Given the description of an element on the screen output the (x, y) to click on. 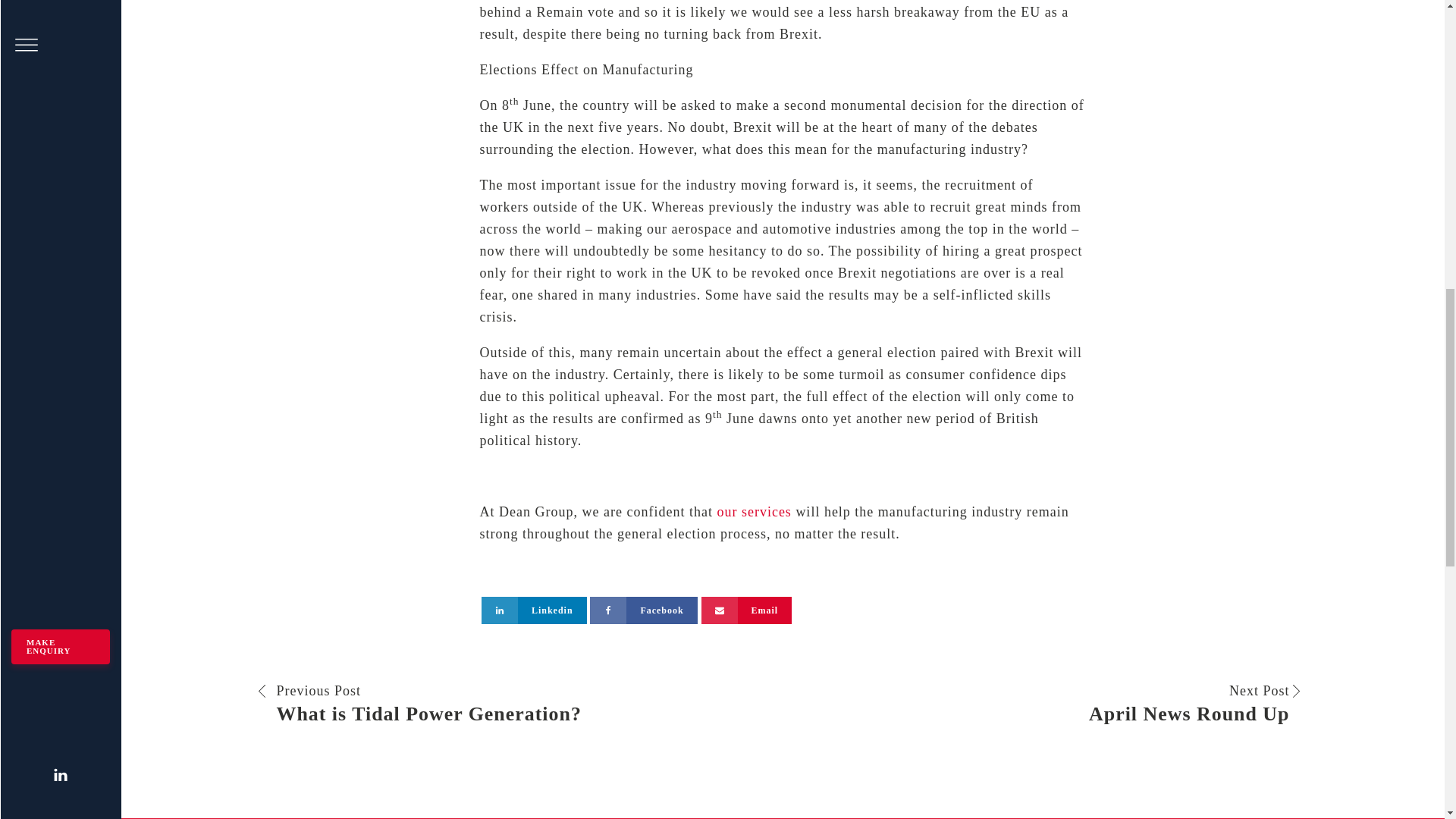
Facebook (518, 703)
our services (643, 610)
Linkedin (753, 511)
Email (533, 610)
